Given the description of an element on the screen output the (x, y) to click on. 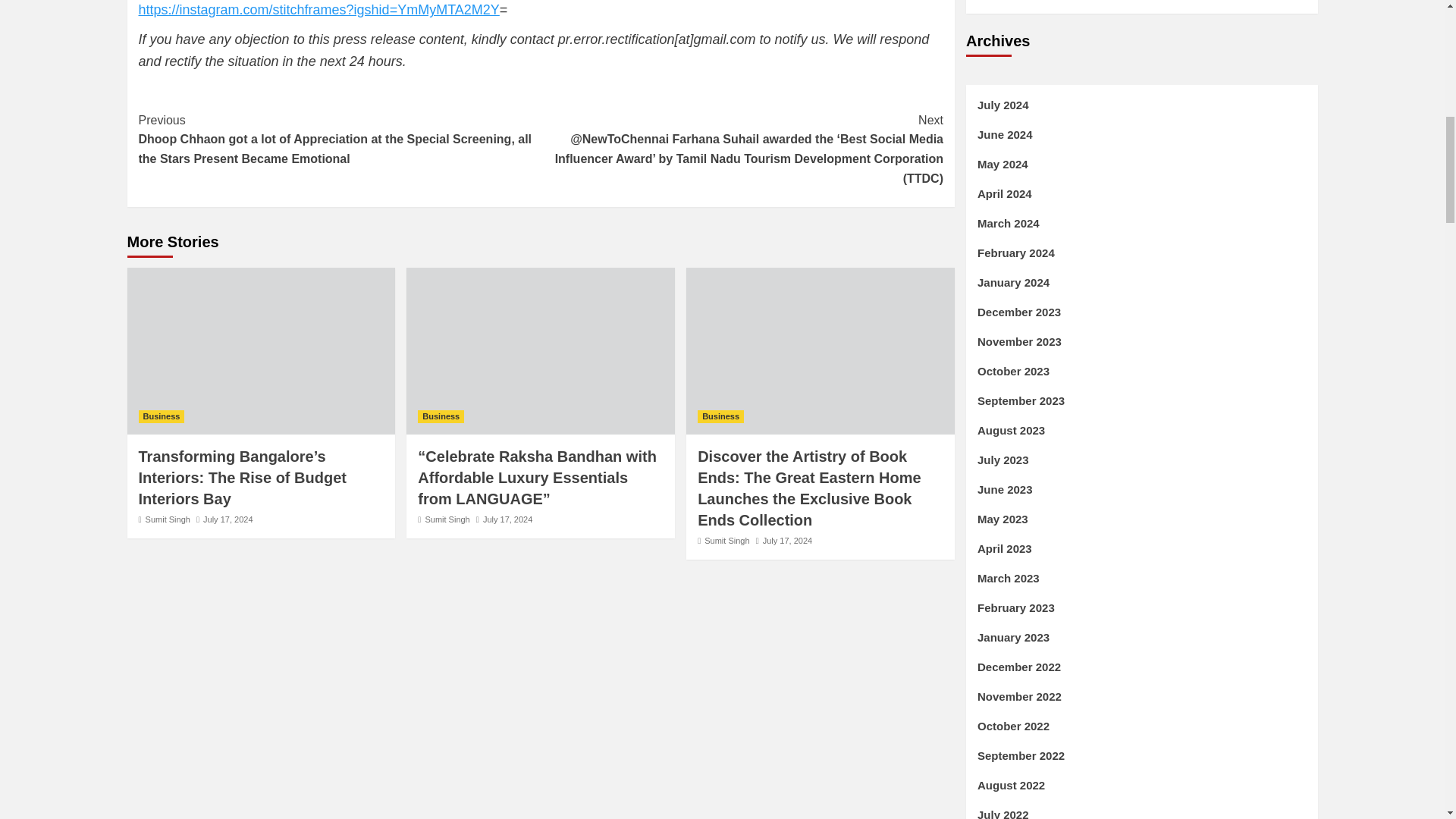
Business (161, 416)
